Given the description of an element on the screen output the (x, y) to click on. 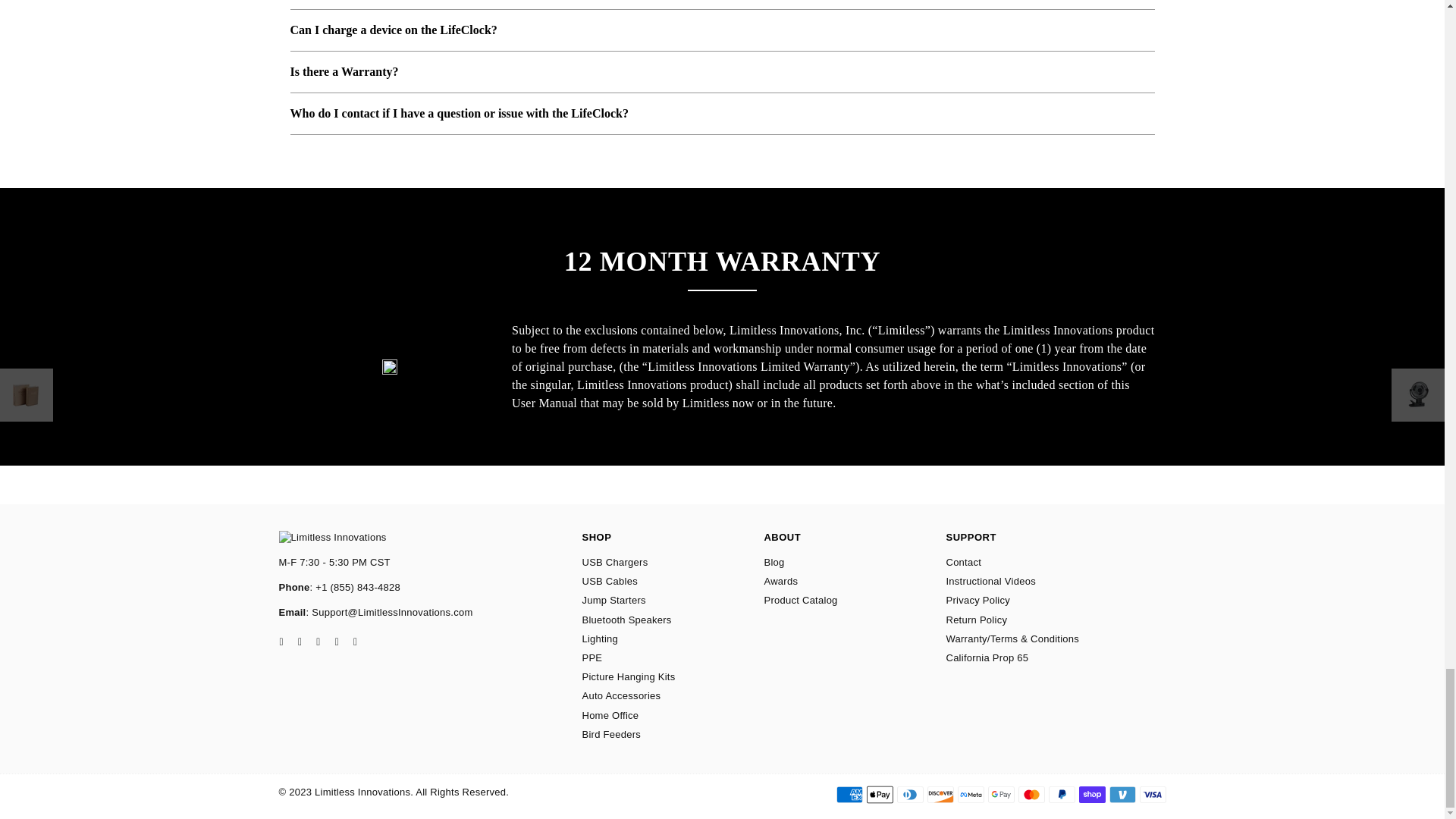
Apple Pay (879, 794)
Google Pay (1000, 794)
Visa (1152, 794)
Venmo (1121, 794)
PayPal (1061, 794)
Mastercard (1030, 794)
American Express (848, 794)
Discover (939, 794)
Shop Pay (1091, 794)
Diners Club (909, 794)
